Given the description of an element on the screen output the (x, y) to click on. 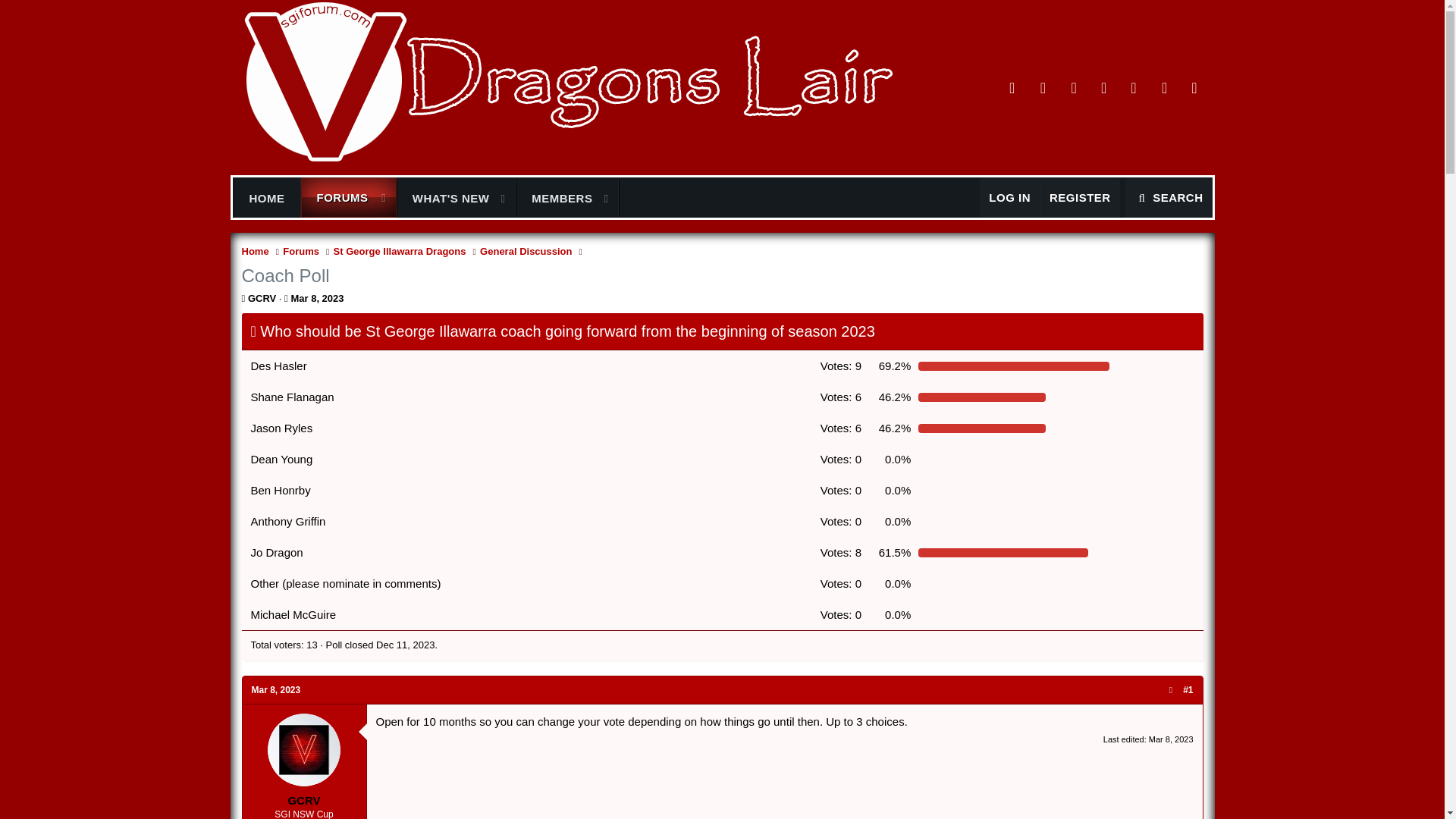
HOME (265, 198)
Home (254, 251)
General Discussion (526, 251)
LOG IN (429, 197)
Twitter (1009, 197)
Instagram (1043, 86)
MEMBERS (1103, 86)
WHAT'S NEW (555, 198)
Contact us (444, 198)
